Given the description of an element on the screen output the (x, y) to click on. 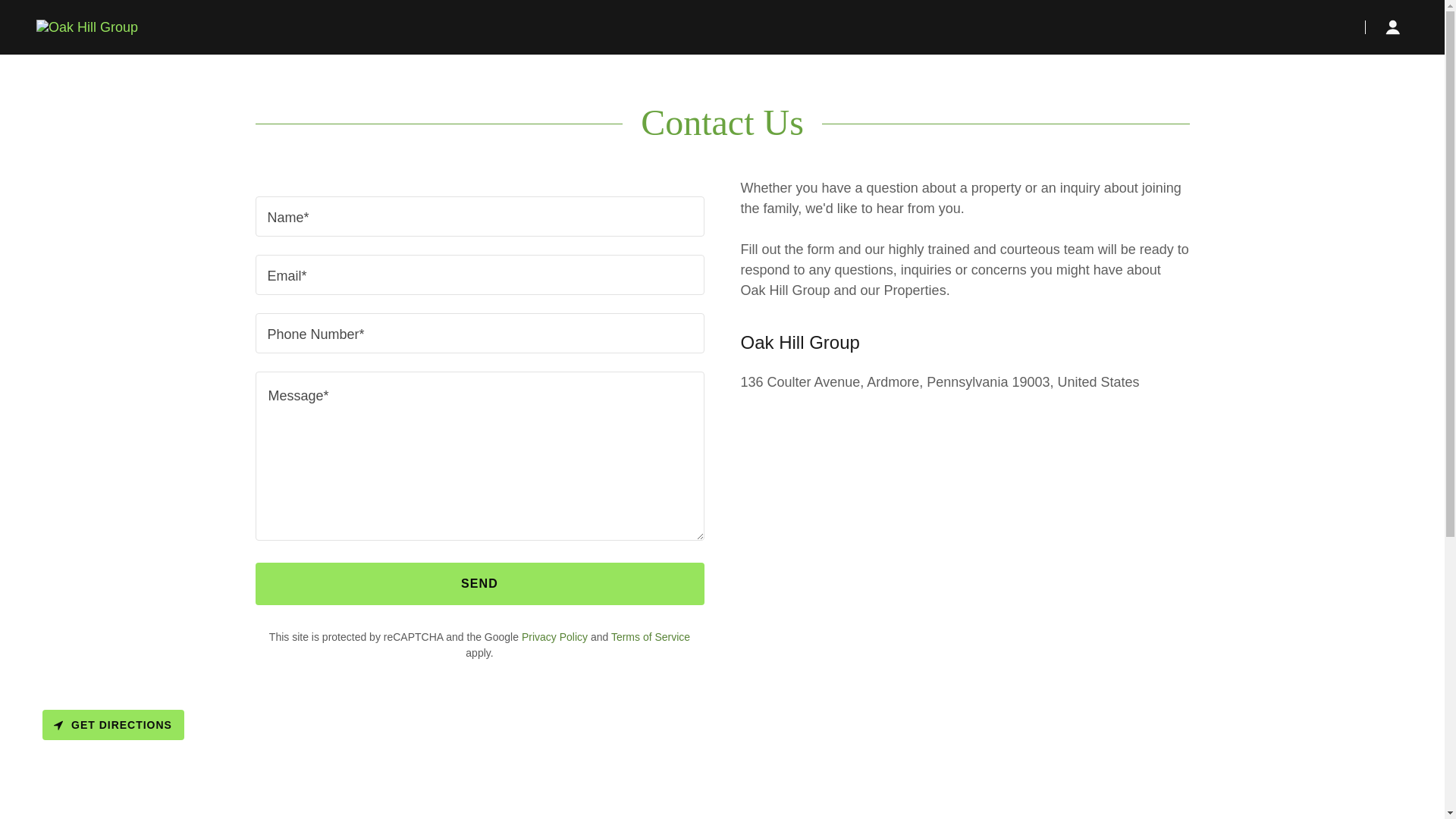
GET DIRECTIONS (113, 725)
Oak Hill Group (87, 26)
Privacy Policy (554, 636)
Terms of Service (650, 636)
SEND (478, 583)
